Given the description of an element on the screen output the (x, y) to click on. 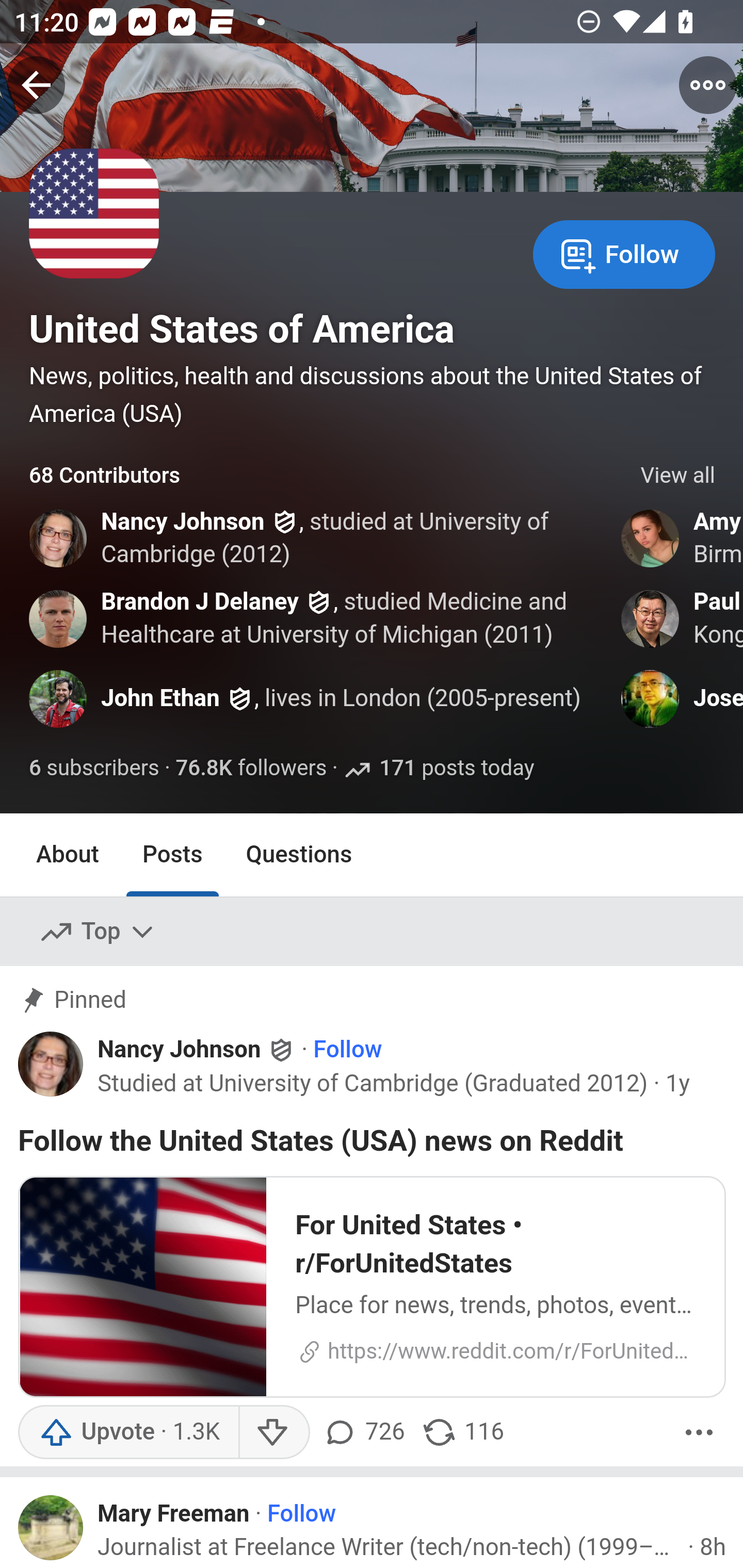
Follow (623, 252)
United States of America (241, 329)
View all (677, 475)
Nancy Johnson (183, 521)
Profile photo for Nancy Johnson (58, 538)
Profile photo for Amy Rees (650, 538)
Brandon J Delaney (200, 601)
Profile photo for Brandon J Delaney (58, 617)
Profile photo for Paul Denlinger (650, 617)
Profile photo for John Ethan (58, 699)
Profile photo for Joseph Boyle (650, 699)
John Ethan (160, 699)
6 subscribers (94, 768)
76.8K followers (251, 768)
About (68, 854)
Posts (171, 854)
Questions (299, 854)
Top (97, 931)
Profile photo for Nancy Johnson (50, 1063)
Nancy Johnson Nancy Johnson   (196, 1049)
Follow (347, 1051)
Upvote (127, 1431)
Downvote (273, 1431)
726 comments (365, 1431)
116 shares (461, 1431)
More (699, 1431)
Profile photo for Mary Freeman (50, 1527)
Mary Freeman (174, 1513)
Follow (302, 1513)
